Given the description of an element on the screen output the (x, y) to click on. 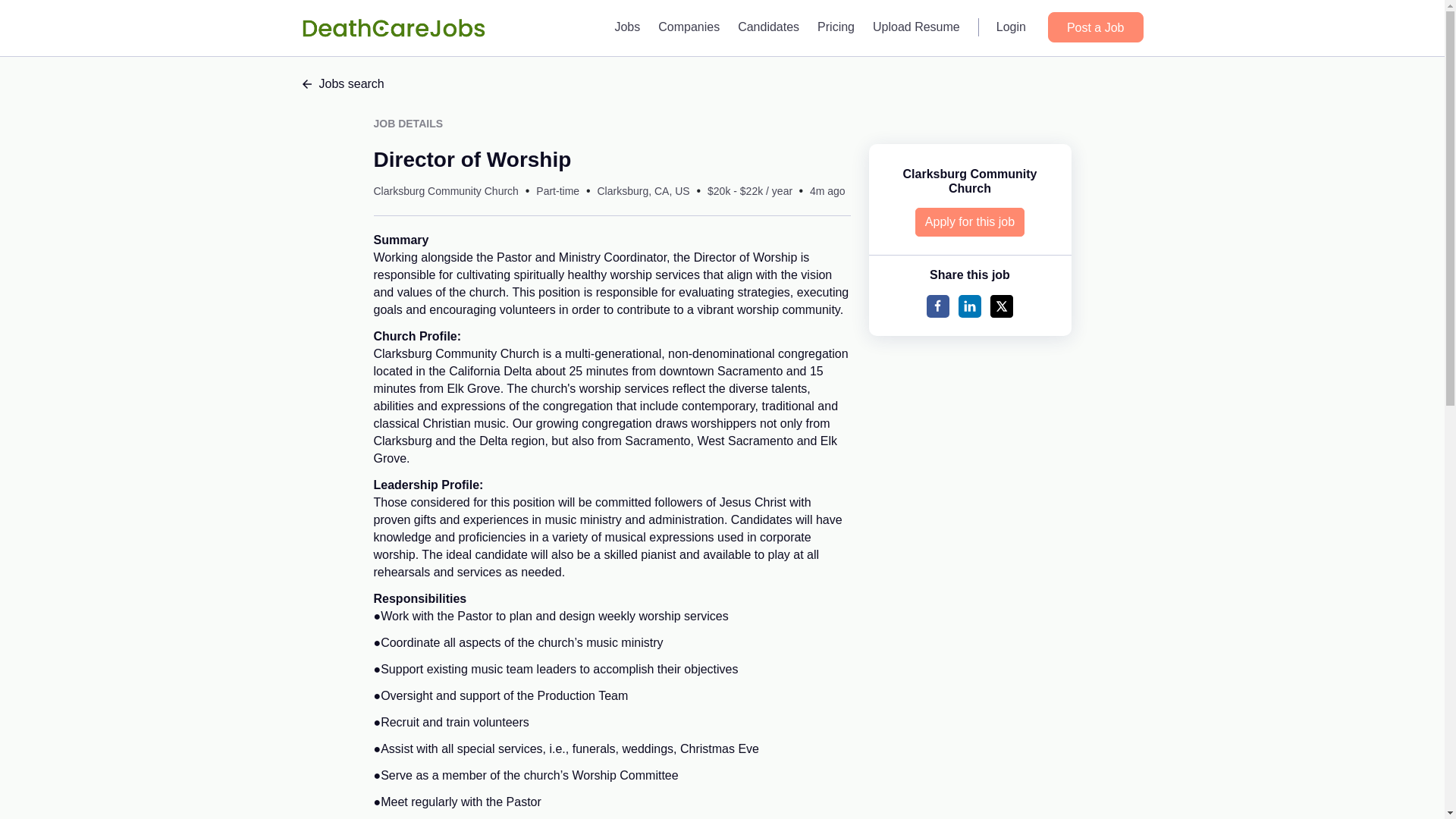
Login (1011, 26)
Share to Twitter (1001, 305)
Clarksburg Community Church (445, 191)
Candidates (768, 26)
Jobs search (721, 84)
Post a Job (1095, 27)
Share to FB (937, 305)
Jobs (627, 26)
Upload Resume (916, 26)
Part-time (557, 191)
Apply for this job (970, 222)
Clarksburg, CA, US (642, 191)
Companies (689, 26)
Pricing (835, 26)
Share to Linkedin (969, 305)
